Given the description of an element on the screen output the (x, y) to click on. 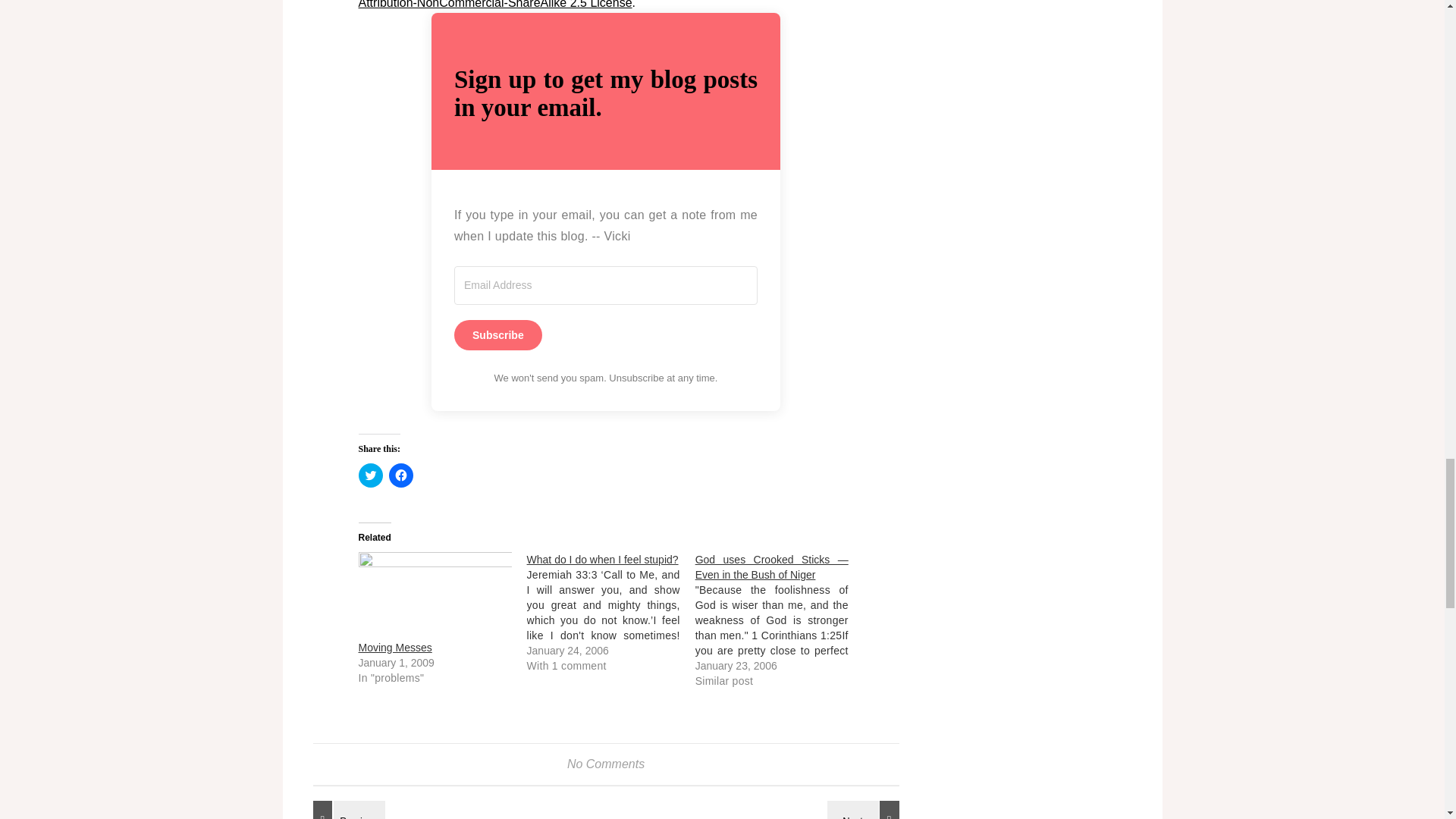
Moving Messes (394, 647)
Moving Messes (434, 595)
Moving Messes (346, 809)
Moving Messes (394, 647)
Click to share on Facebook (400, 475)
What do I do when I feel stupid? (602, 559)
Prevailing against the prevailing winds (865, 809)
What do I do when I feel stupid? (611, 612)
Subscribe (497, 335)
